Given the description of an element on the screen output the (x, y) to click on. 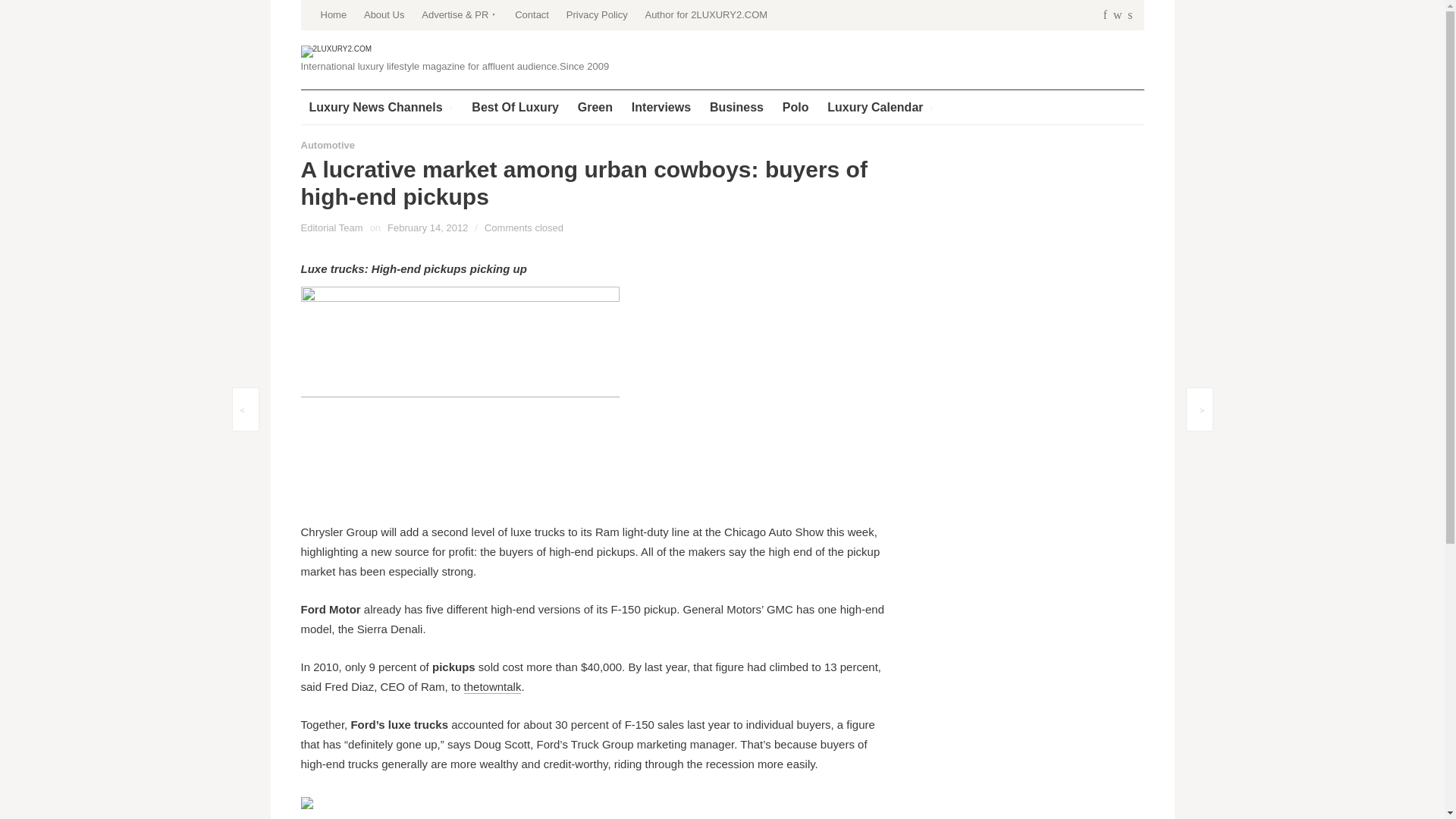
Green luxury (595, 107)
Author for 2LUXURY2.COM (706, 15)
Contact (531, 15)
Luxury Advertising and PR (459, 15)
luxury news (380, 107)
2LUXURY2.COM (335, 50)
2LUXURY2.COM (335, 51)
Best Of Luxury (515, 107)
About Us (384, 15)
Skip to content (336, 4)
